Given the description of an element on the screen output the (x, y) to click on. 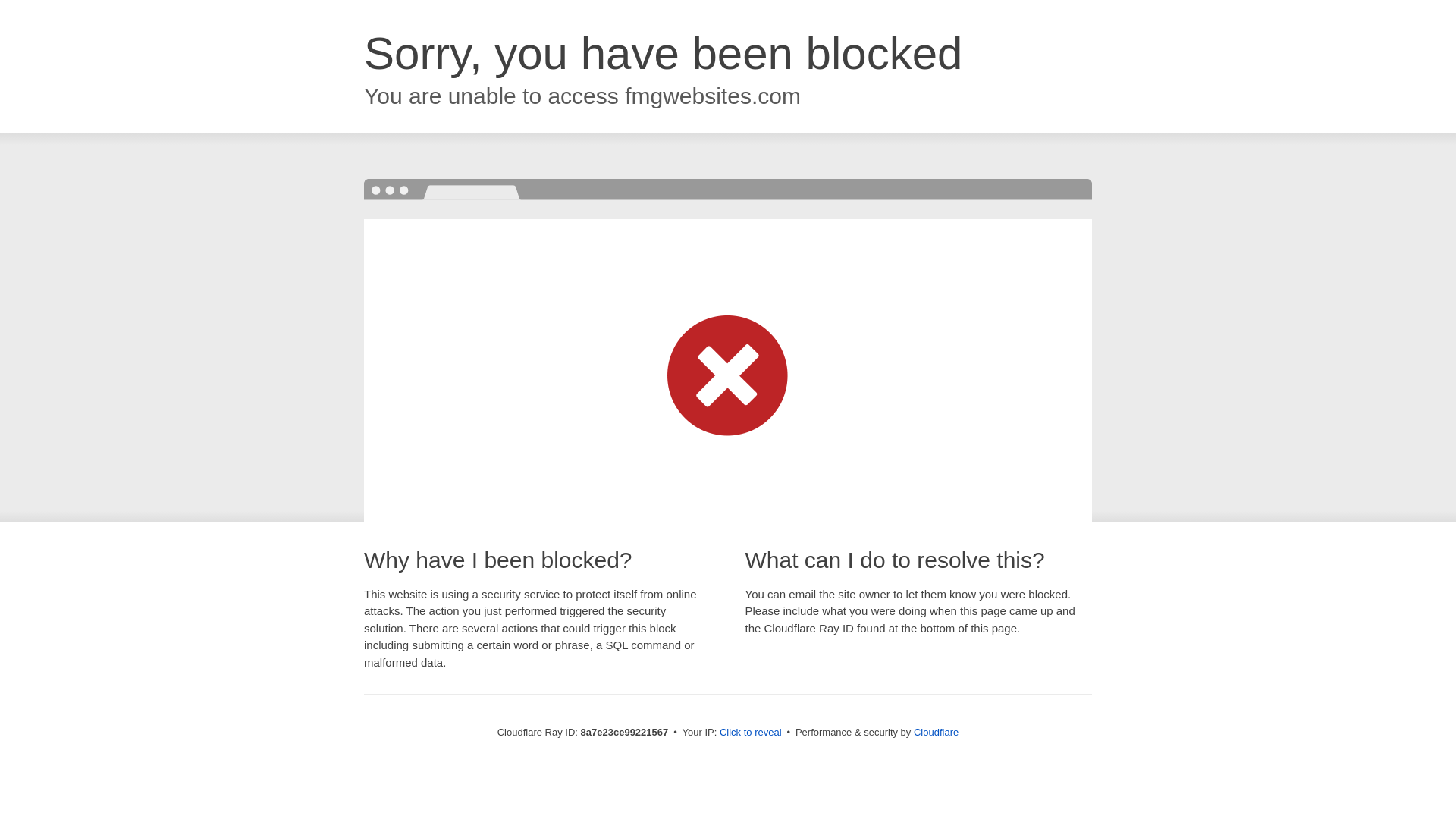
Cloudflare (936, 731)
Click to reveal (750, 732)
